Given the description of an element on the screen output the (x, y) to click on. 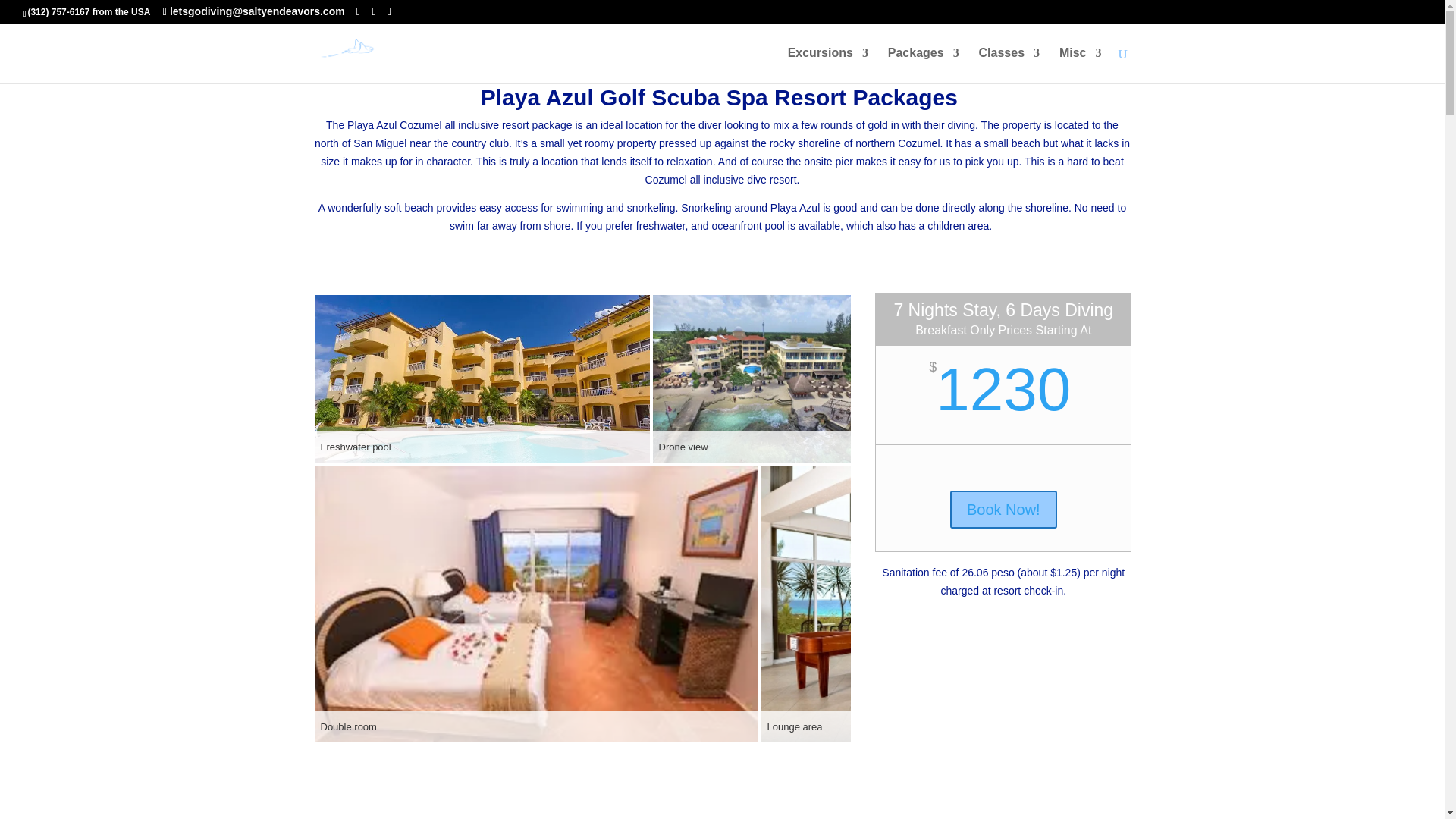
images (764, 378)
Packages (923, 65)
Excursions (827, 65)
playa-azul-facilities-03 (946, 604)
Classes (1009, 65)
